Given the description of an element on the screen output the (x, y) to click on. 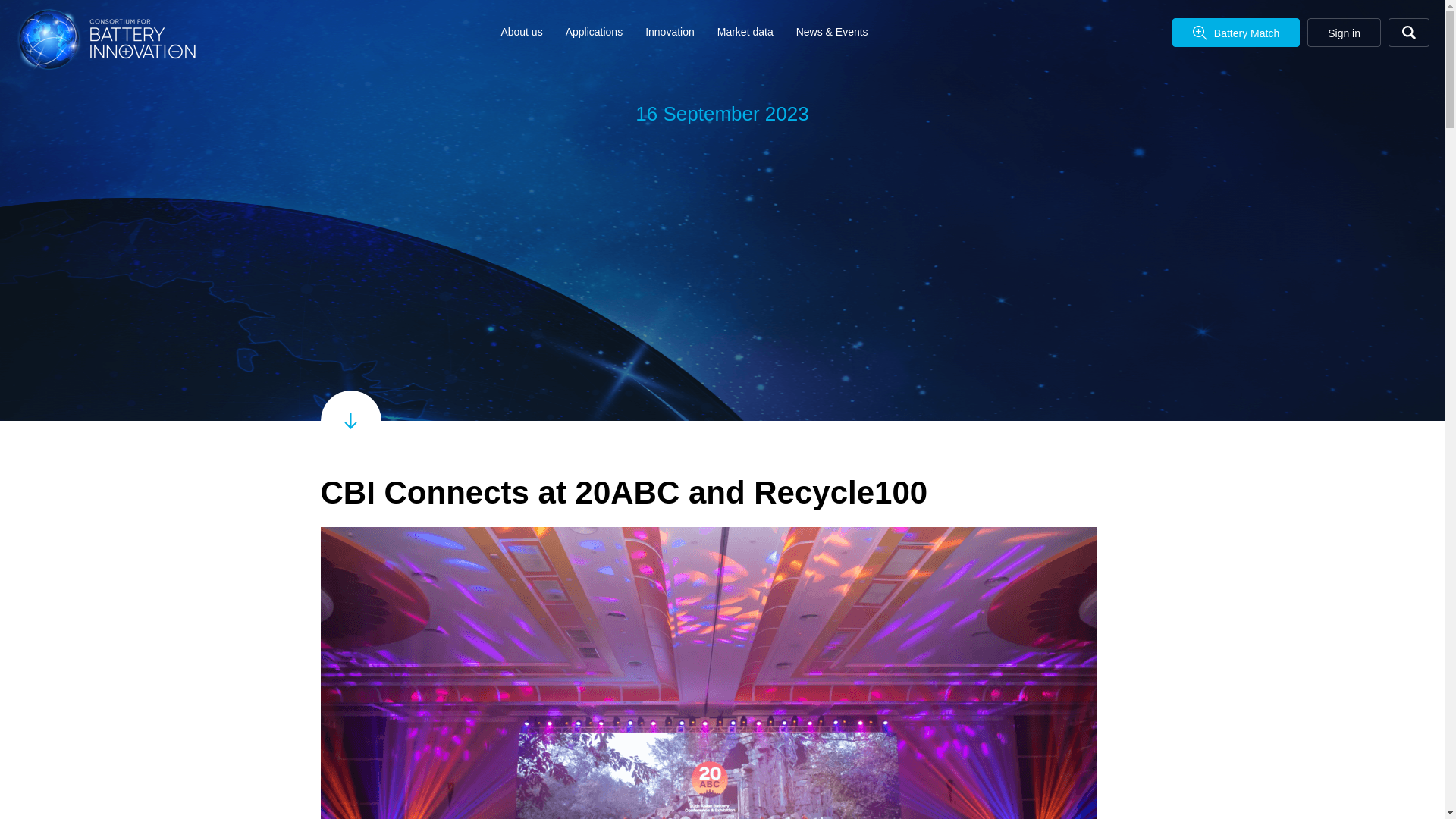
Applications (594, 31)
About us (520, 31)
CBI Connects at 20ABC and Recycle100 (722, 420)
Market data (745, 31)
Sign in (1343, 32)
Battery Match (1236, 32)
Innovation (669, 31)
